Given the description of an element on the screen output the (x, y) to click on. 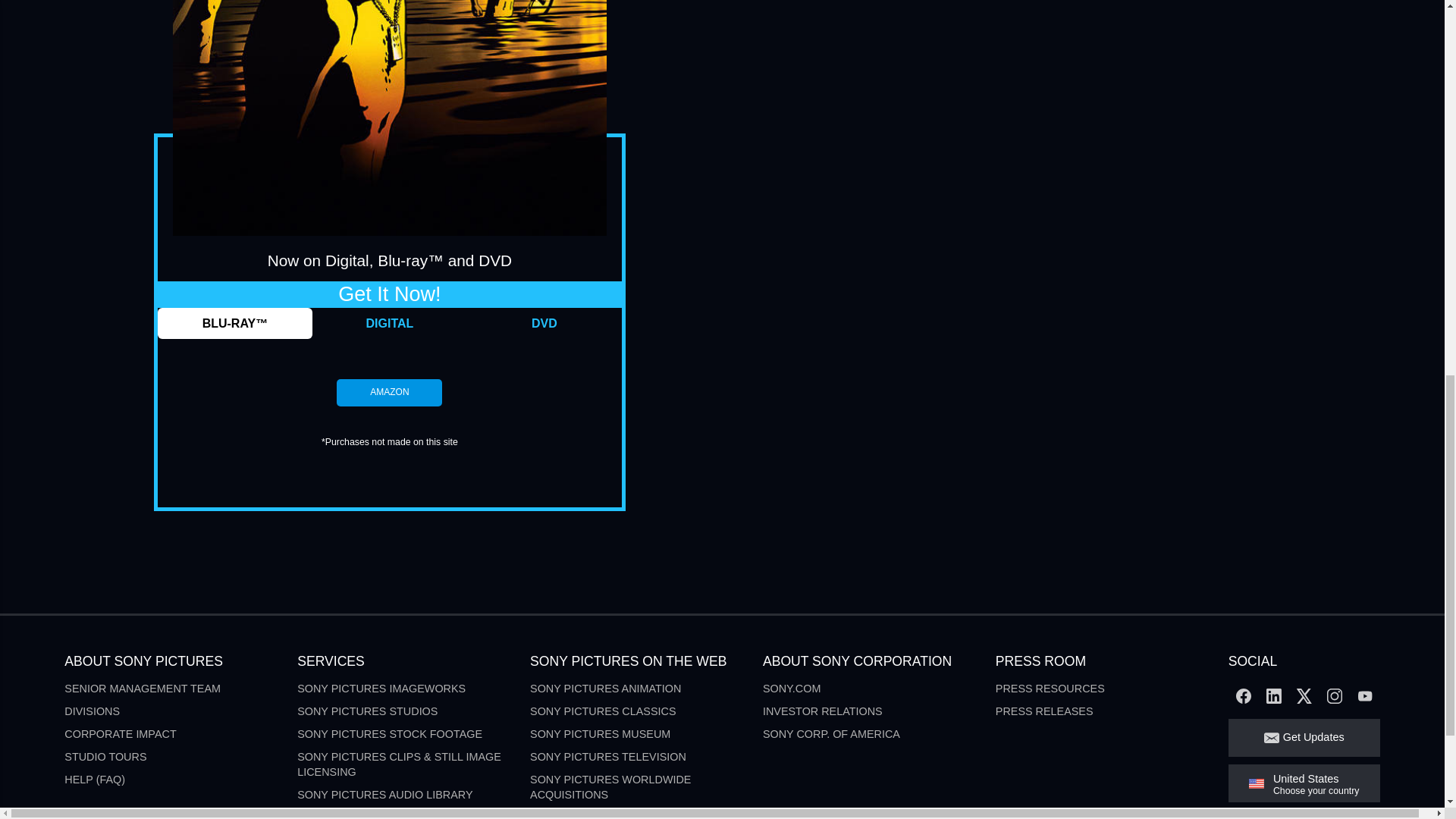
SONY PICTURES IMAGEWORKS (381, 688)
CORPORATE IMPACT (120, 734)
WALTZ WITH BASHIR (390, 117)
DVD (544, 323)
GROUP SALES (336, 815)
SONY PICTURES AUDIO LIBRARY (384, 794)
SENIOR MANAGEMENT TEAM (142, 688)
STUDIO TOURS (105, 756)
DIVISIONS (91, 711)
DIGITAL (390, 323)
SONY PICTURES STUDIOS (367, 711)
AMAZON (389, 392)
SONY PICTURES STOCK FOOTAGE (389, 734)
Madison Gate Records (599, 815)
